Given the description of an element on the screen output the (x, y) to click on. 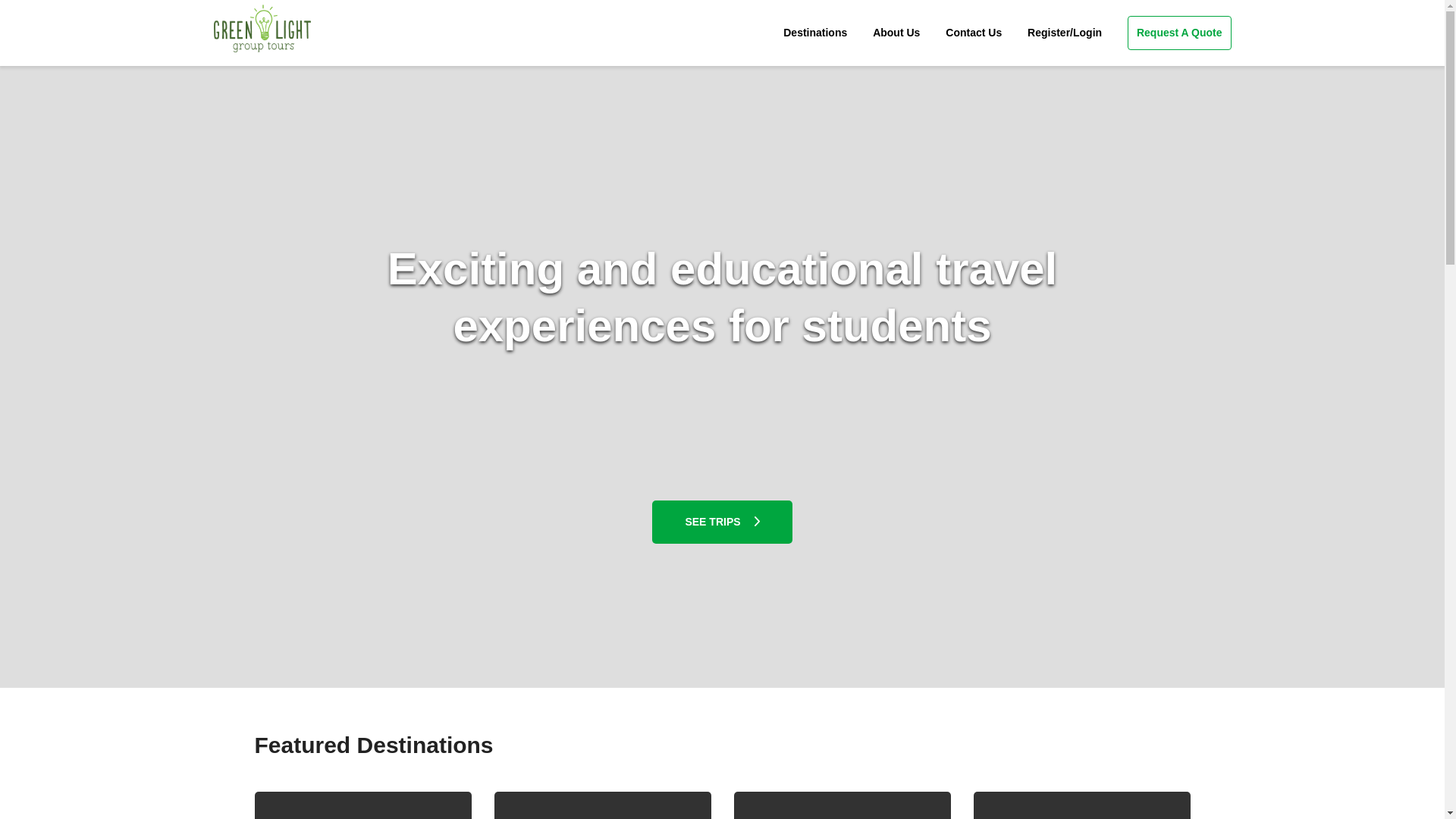
Request A Quote (1178, 32)
SEE TRIPS (722, 521)
Destinations (815, 33)
About Us (896, 33)
Contact Us (972, 33)
